Given the description of an element on the screen output the (x, y) to click on. 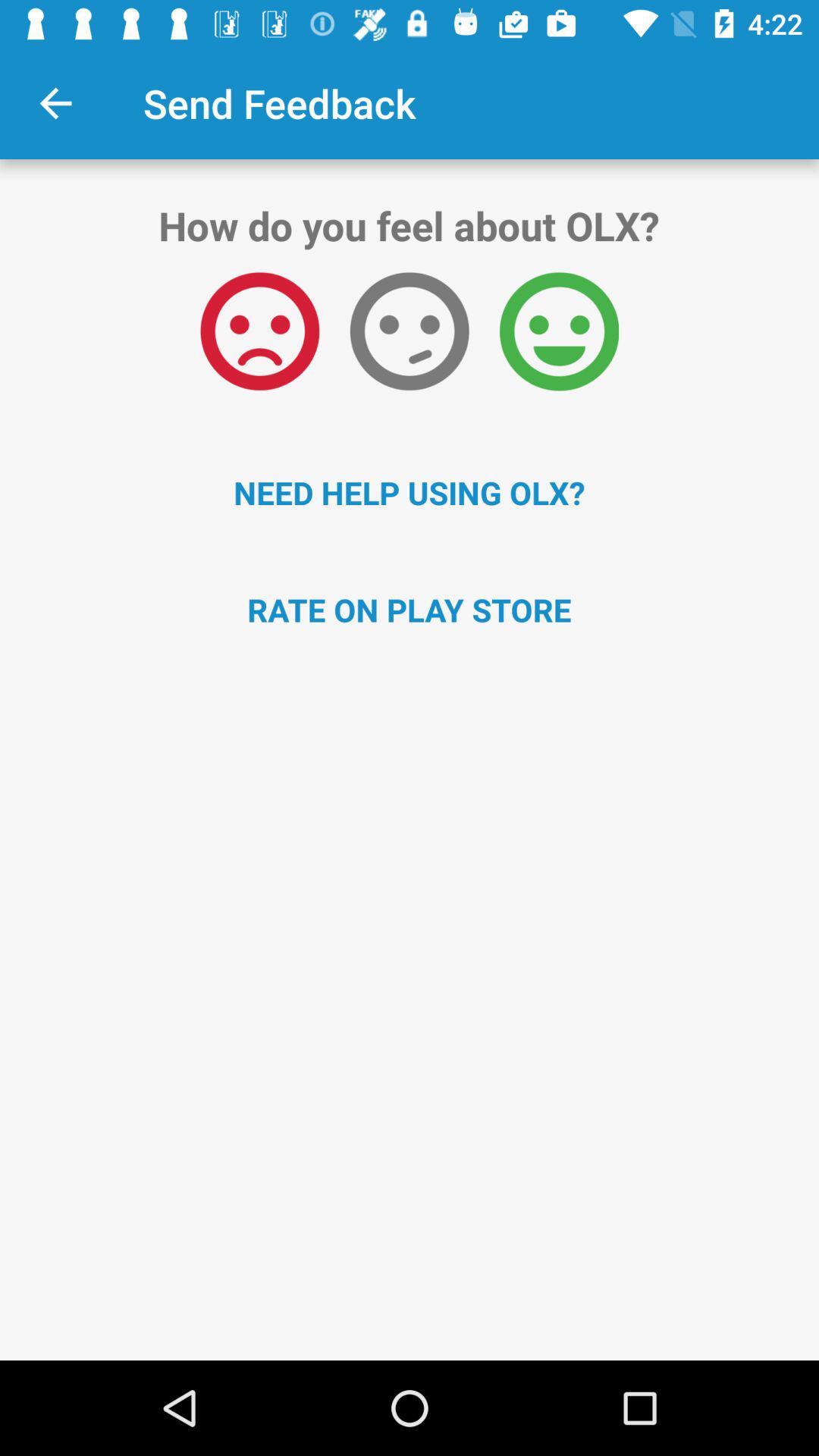
turn off the icon at the top right corner (558, 331)
